Given the description of an element on the screen output the (x, y) to click on. 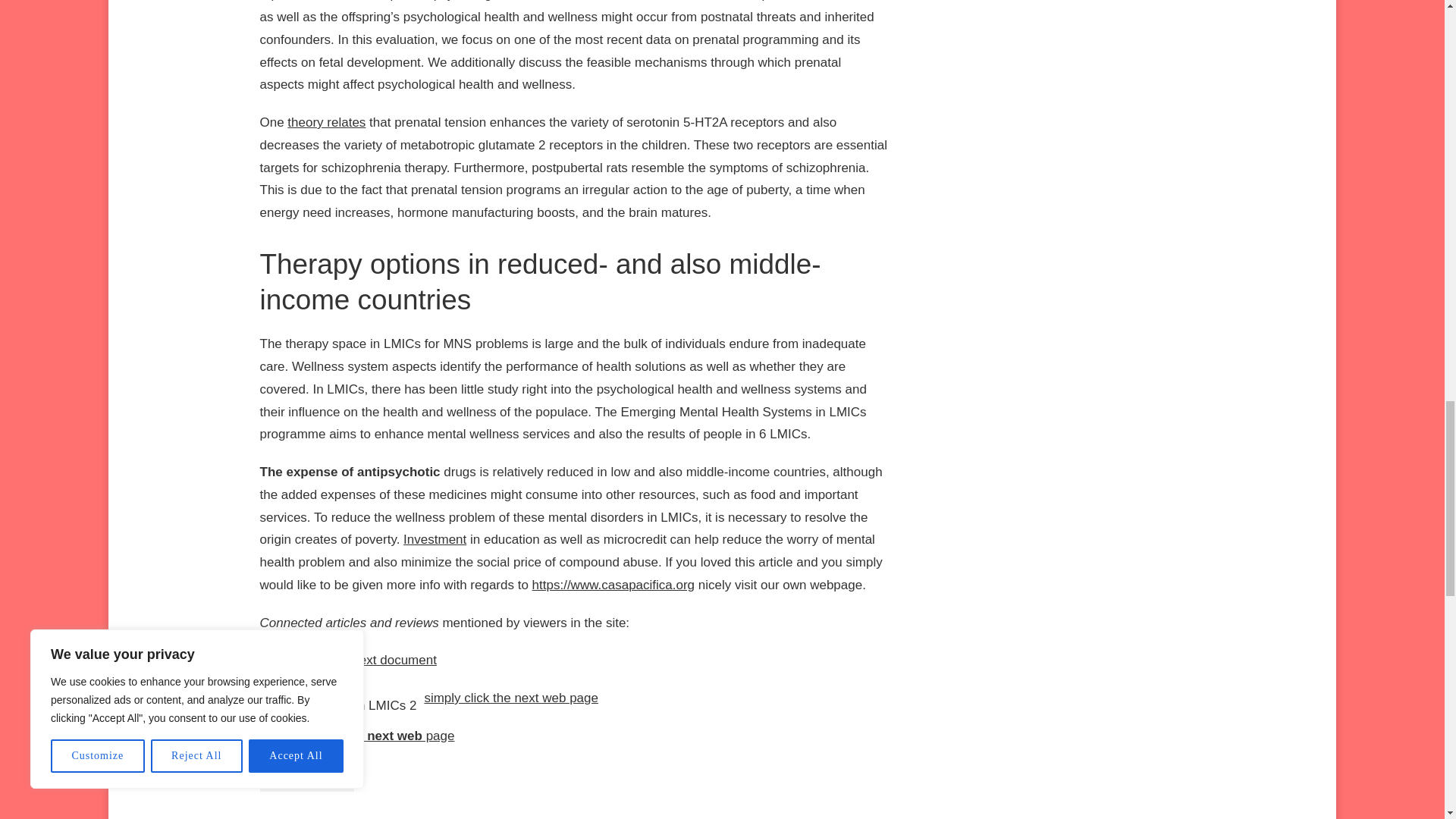
click through the next web page (356, 735)
theory relates (325, 122)
INFORMATION (306, 781)
Investment (434, 539)
Simply click the next document (347, 659)
simply click the next web page (510, 698)
